Given the description of an element on the screen output the (x, y) to click on. 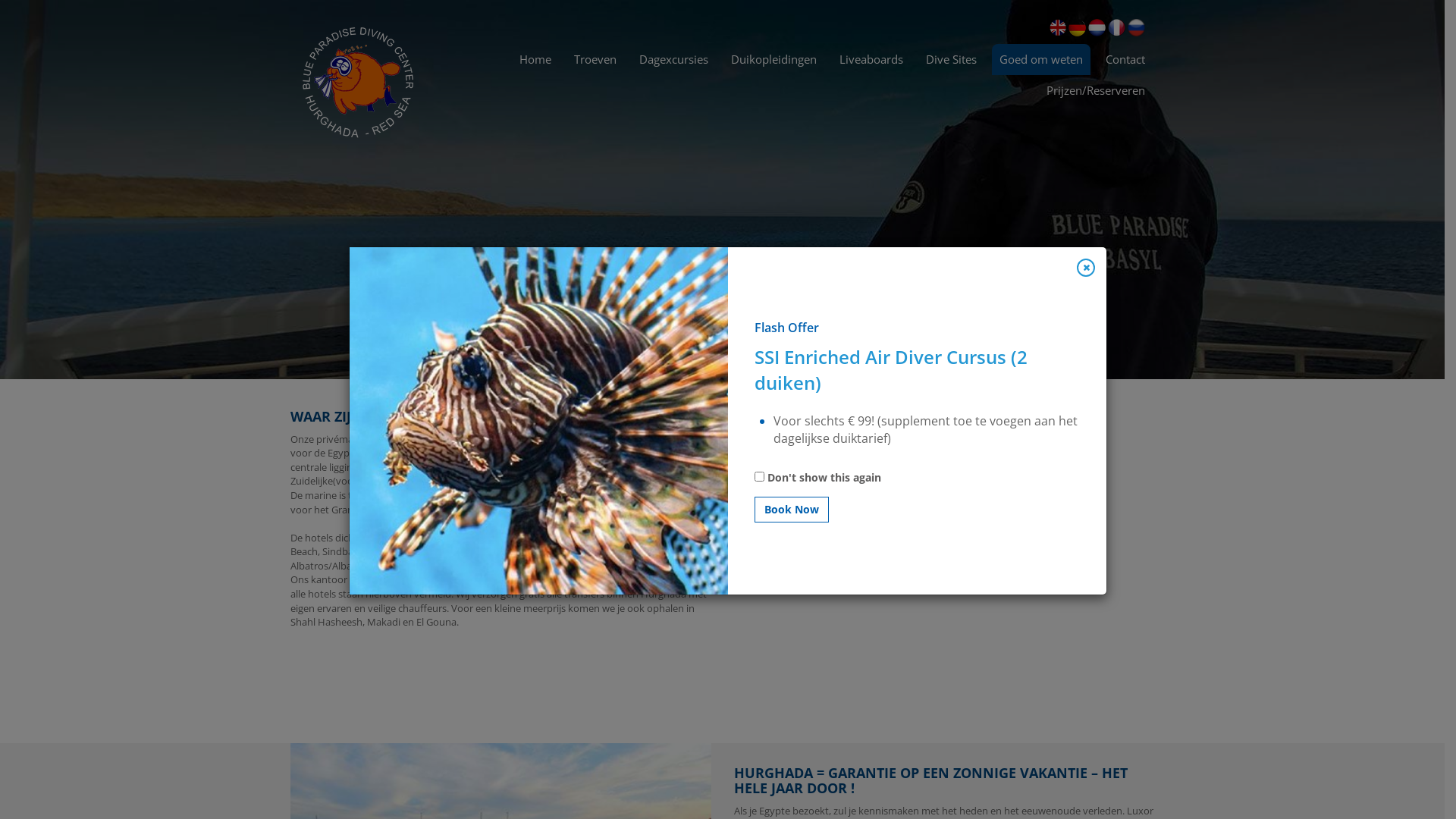
Contact Element type: text (1125, 59)
Goed om weten Element type: text (1040, 59)
Dagexcursies Element type: text (673, 59)
Dive Sites Element type: text (951, 59)
Troeven Element type: text (595, 59)
Liveaboards Element type: text (870, 59)
Book Now Element type: text (791, 509)
Home Element type: text (534, 59)
Duikopleidingen Element type: text (773, 59)
Prijzen/Reserveren Element type: text (1095, 90)
